Given the description of an element on the screen output the (x, y) to click on. 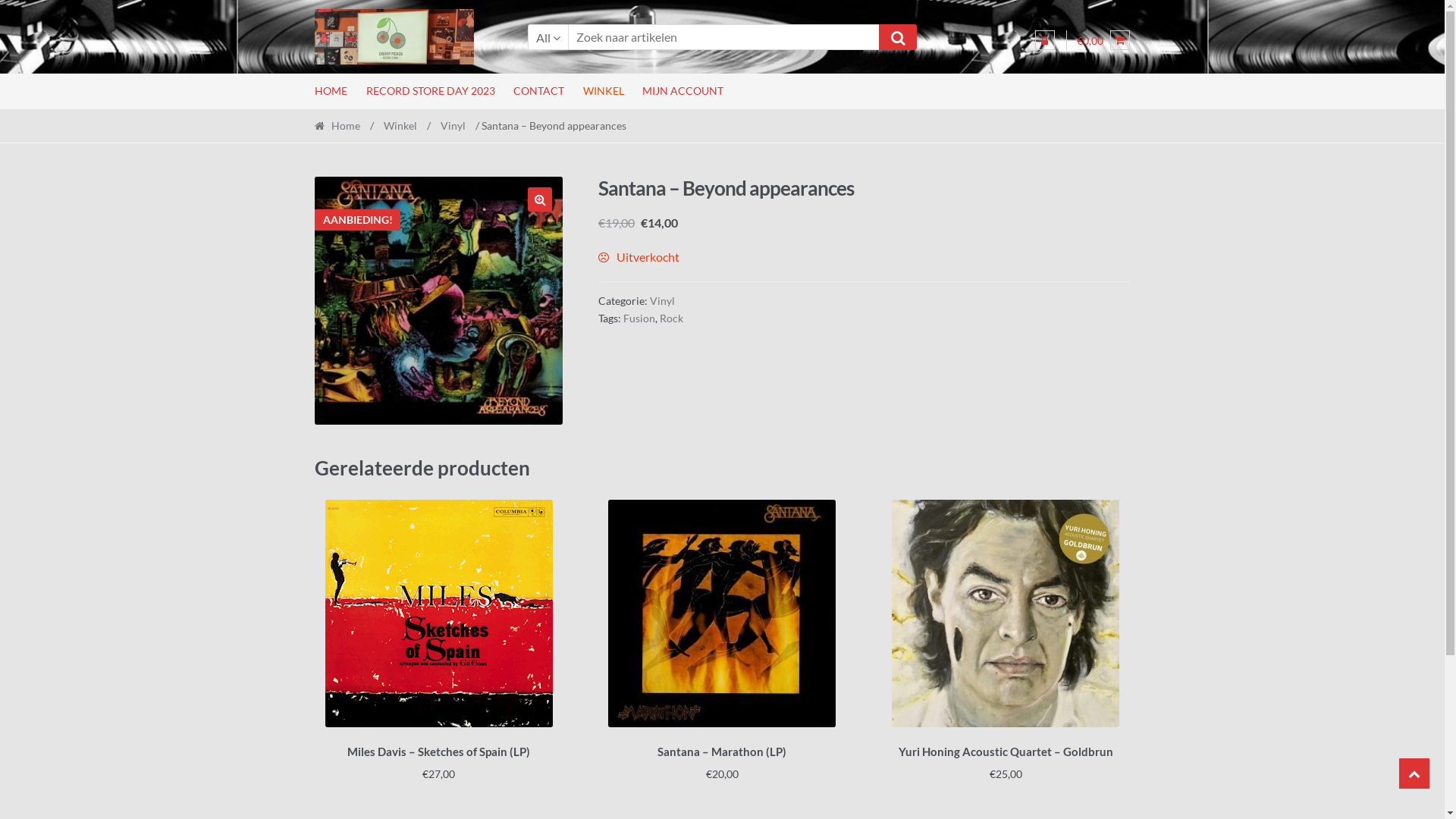
Vinyl Element type: text (661, 300)
Fusion Element type: text (639, 317)
Vinyl Element type: text (453, 125)
Log in / Registreer Element type: hover (1044, 40)
Winkel Element type: text (400, 125)
Home Element type: text (340, 125)
CONTACT Element type: text (539, 91)
HOME Element type: text (335, 91)
8719262009257-0300px-001 Element type: hover (438, 300)
RECORD STORE DAY 2023 Element type: text (431, 91)
Rock Element type: text (671, 317)
MIJN ACCOUNT Element type: text (683, 91)
WINKEL Element type: text (603, 91)
